Given the description of an element on the screen output the (x, y) to click on. 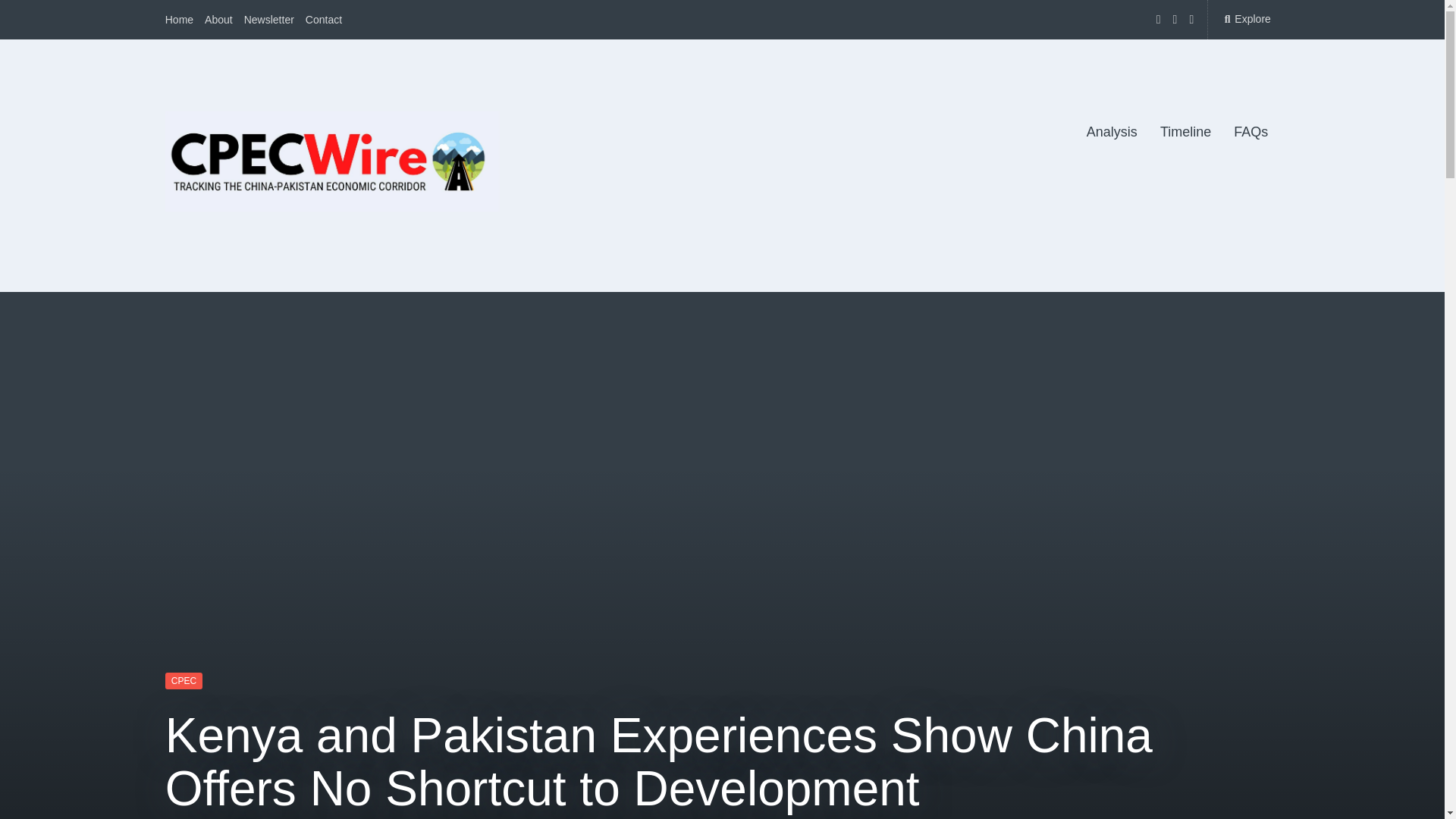
Contact (323, 19)
Newsletter (269, 19)
